Given the description of an element on the screen output the (x, y) to click on. 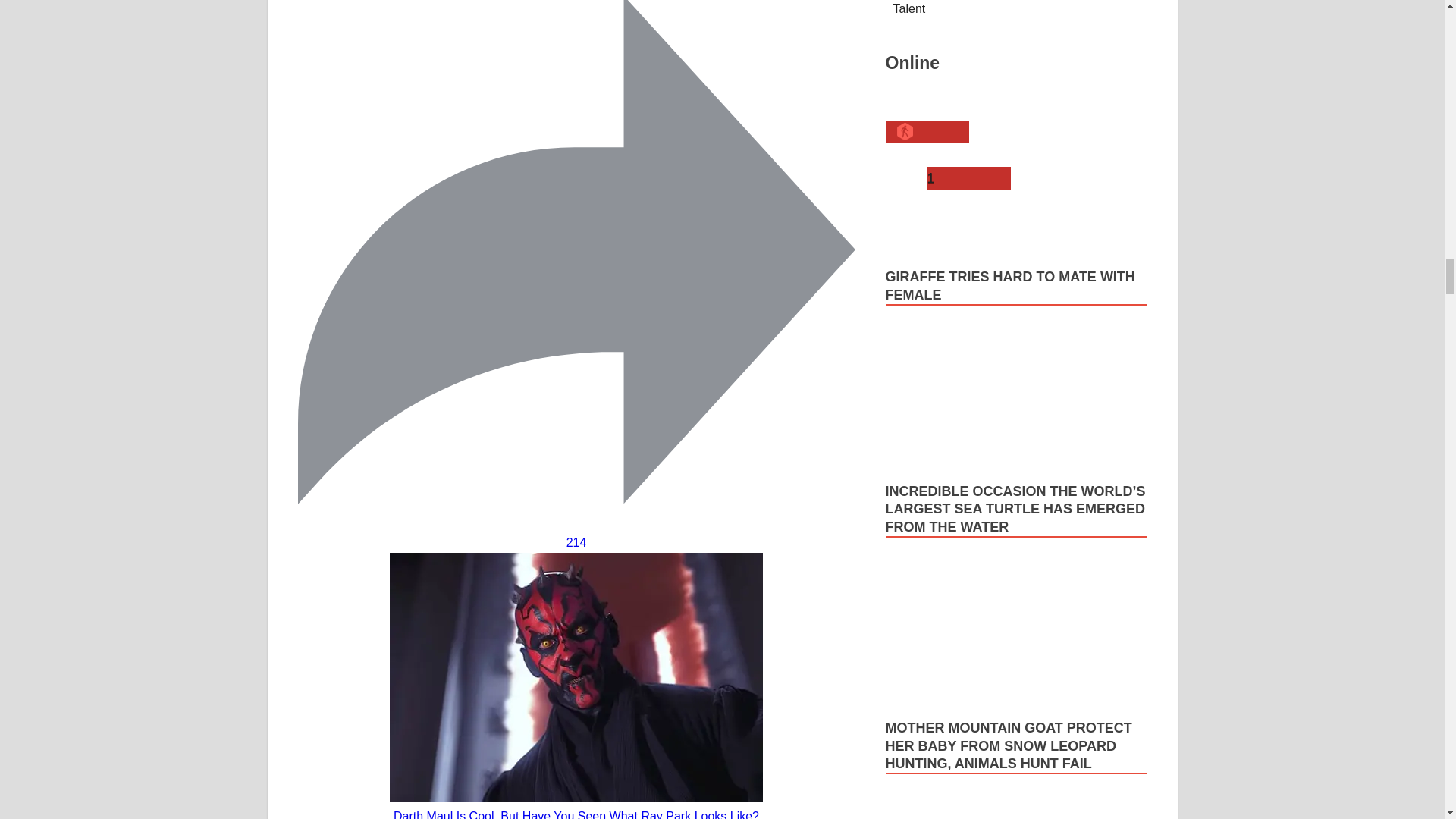
Click to see what's popular on this site! (968, 178)
Click to see what's popular on this site! (927, 131)
